Given the description of an element on the screen output the (x, y) to click on. 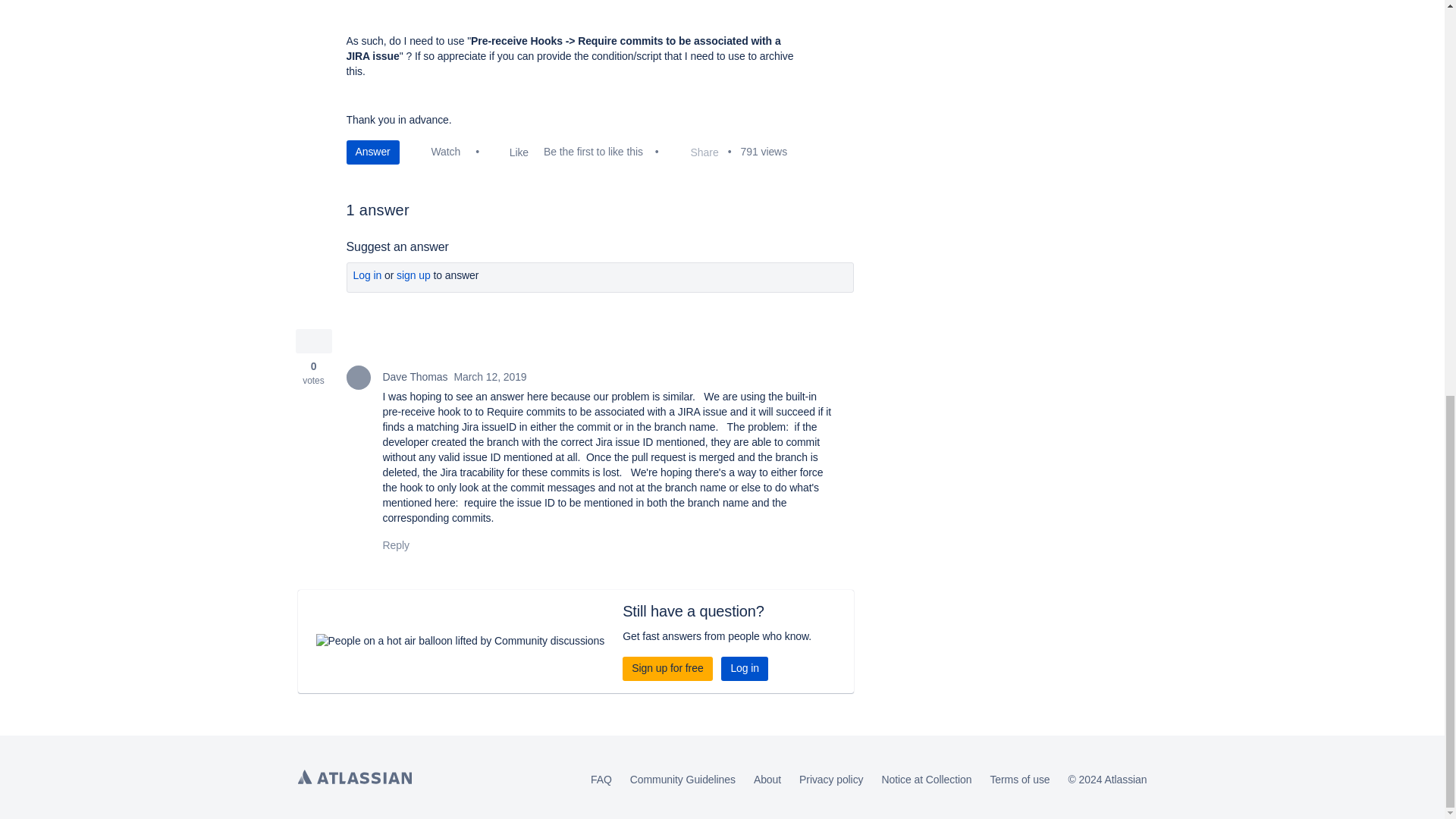
Dave Thomas (357, 377)
